Given the description of an element on the screen output the (x, y) to click on. 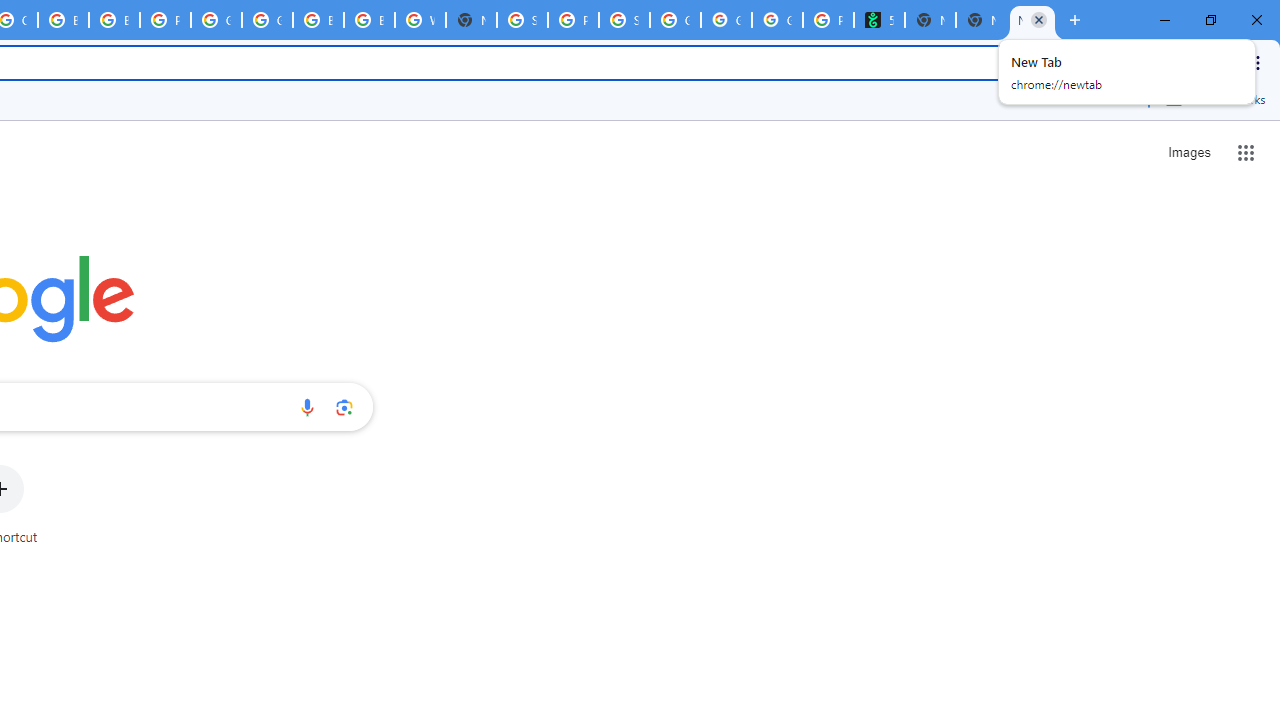
Sign in - Google Accounts (521, 20)
New Tab (470, 20)
Browse Chrome as a guest - Computer - Google Chrome Help (113, 20)
Search by image (344, 407)
Search by voice (307, 407)
